Given the description of an element on the screen output the (x, y) to click on. 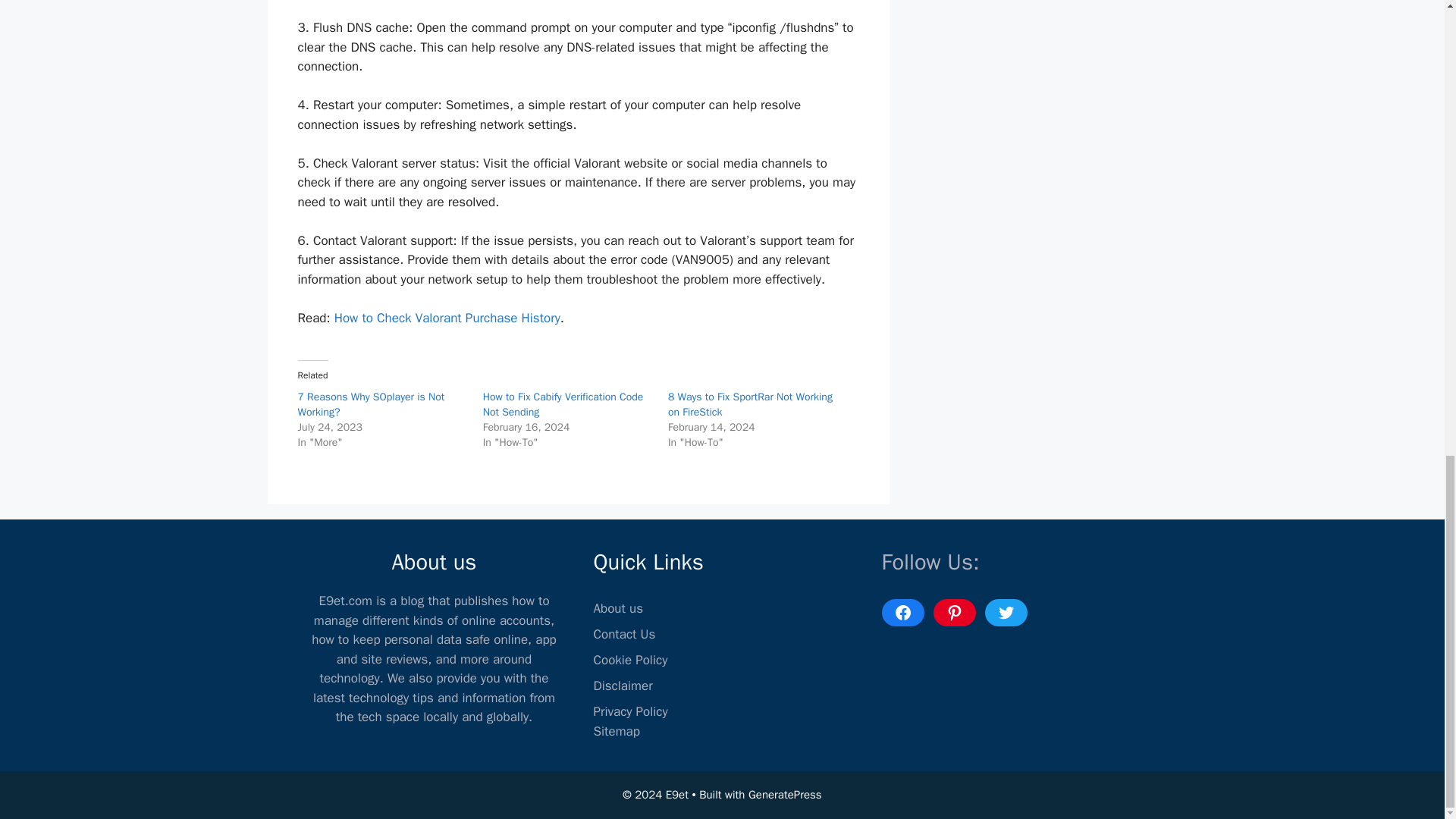
8 Ways to Fix SportRar Not Working on FireStick (750, 404)
Disclaimer (622, 685)
7 Reasons Why SOplayer is Not Working? (370, 404)
How to Check Valorant Purchase History (447, 317)
Privacy Policy (629, 711)
How to Fix Cabify Verification Code Not Sending (563, 404)
Twitter (1005, 612)
Facebook (901, 612)
GeneratePress (785, 794)
Contact Us (623, 634)
About us (617, 608)
8 Ways to Fix SportRar Not Working on FireStick (750, 404)
Sitemap (615, 731)
Pinterest (954, 612)
7 Reasons Why SOplayer is Not Working? (370, 404)
